Given the description of an element on the screen output the (x, y) to click on. 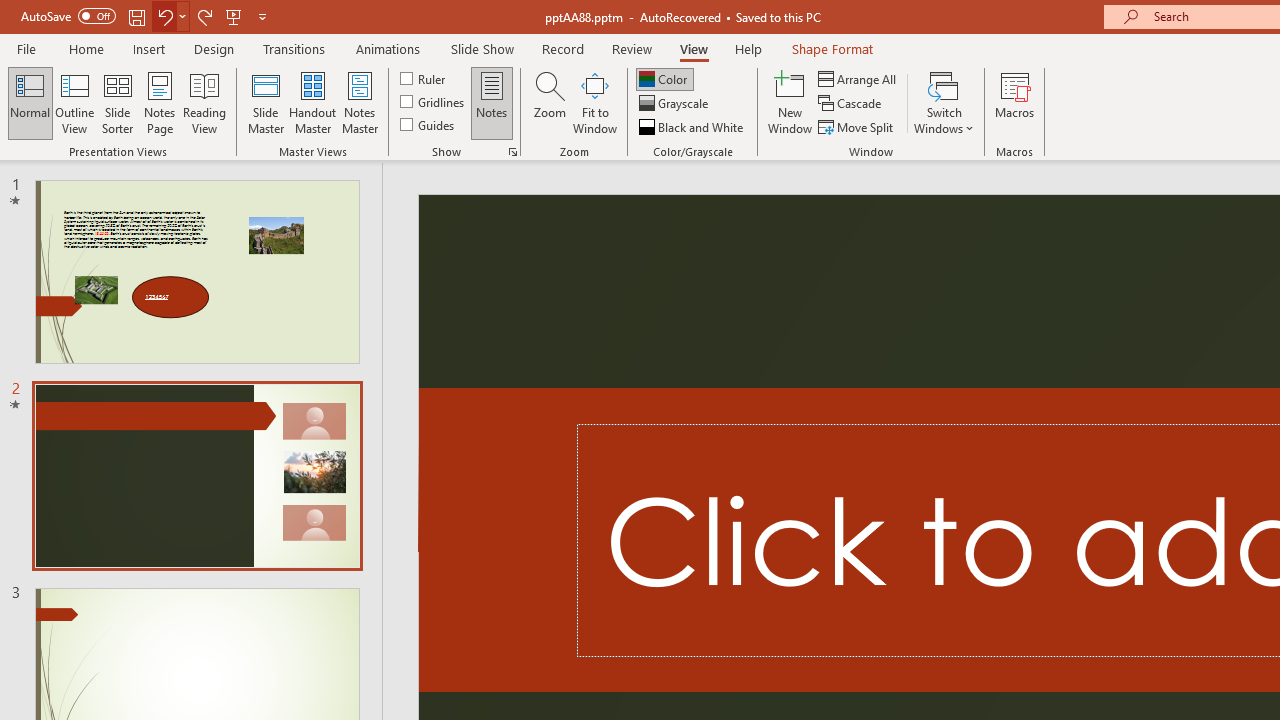
Gridlines (433, 101)
Cascade (851, 103)
